Given the description of an element on the screen output the (x, y) to click on. 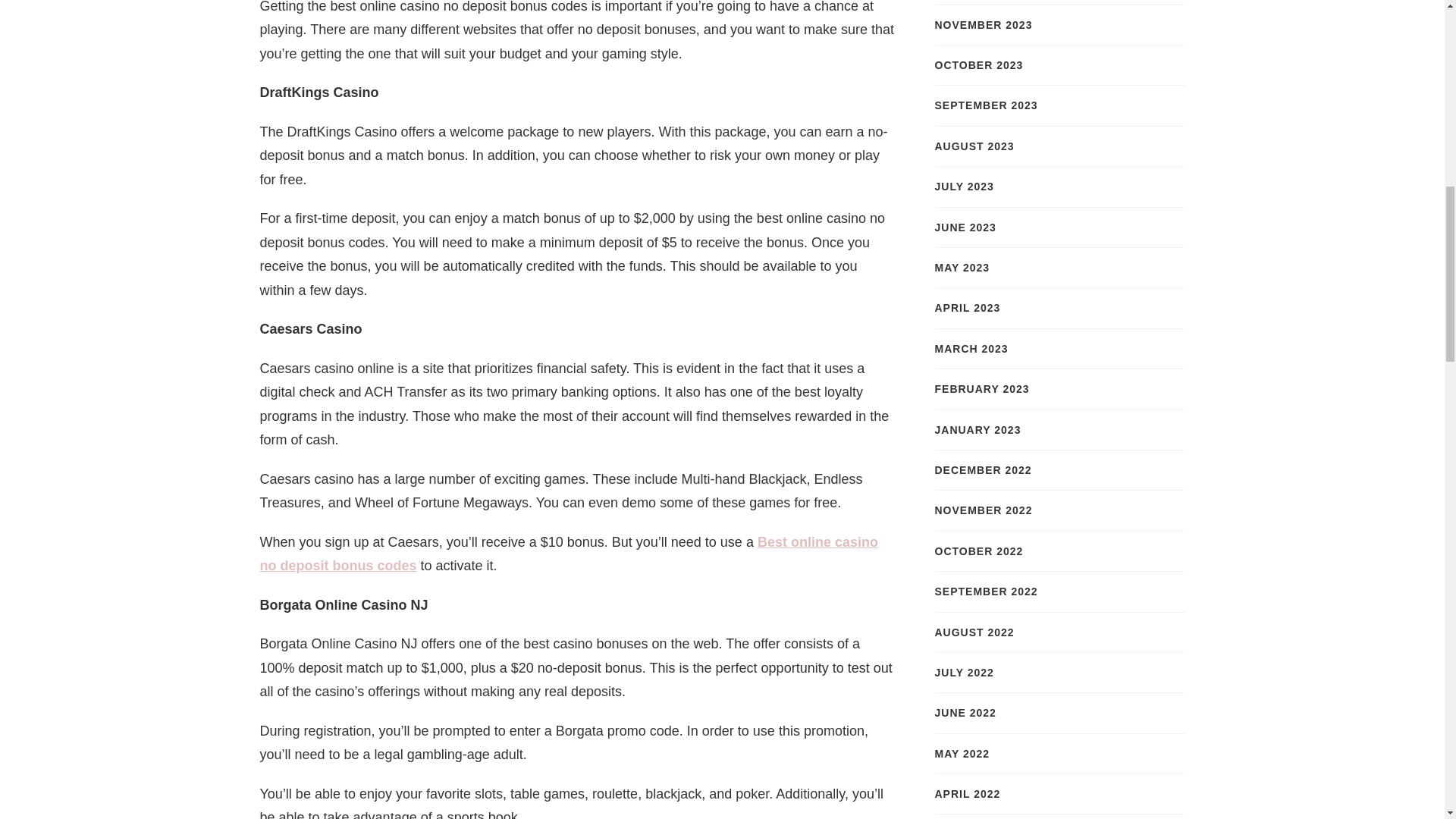
Best online casino no deposit bonus codes (568, 554)
